Given the description of an element on the screen output the (x, y) to click on. 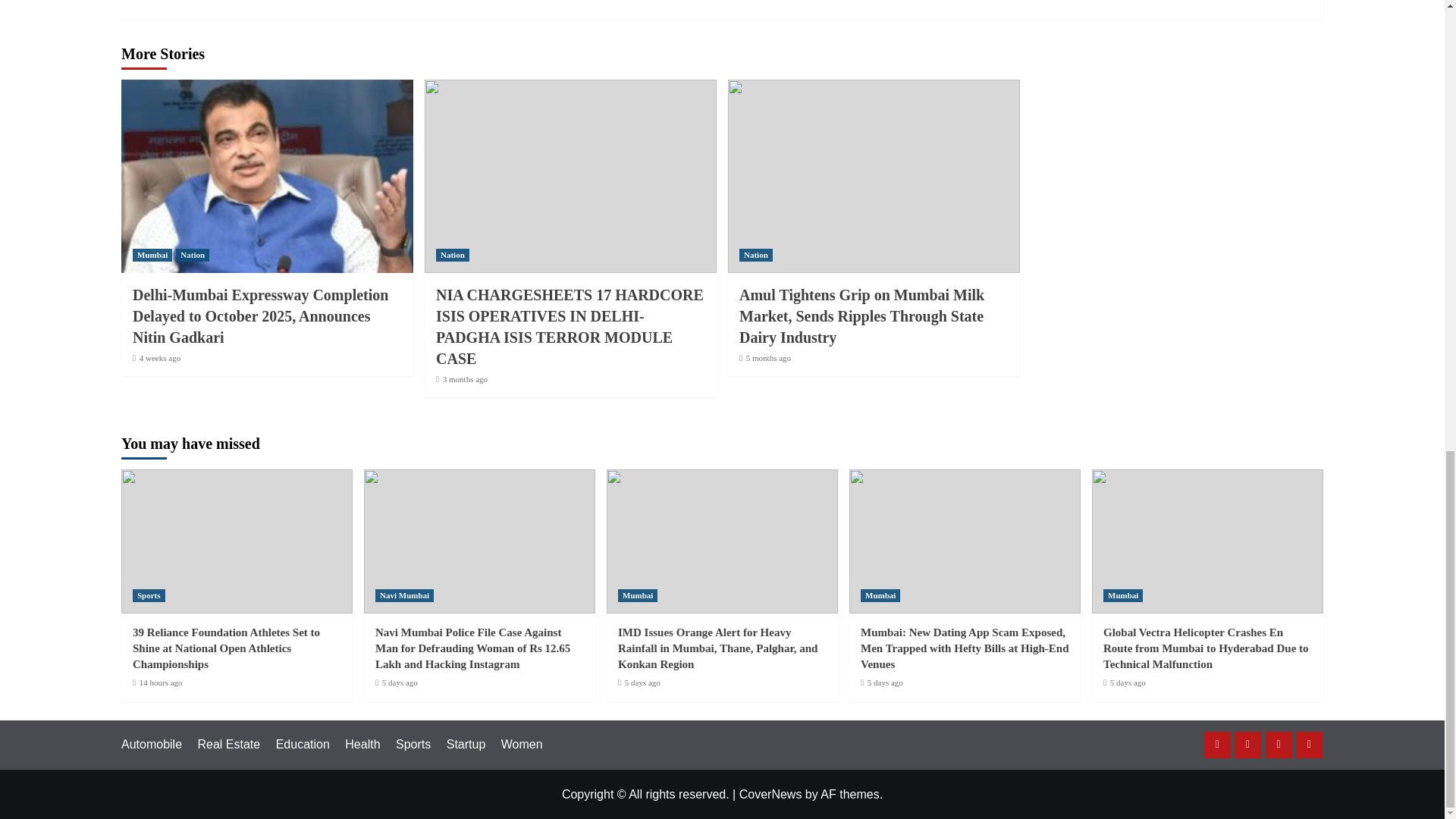
Nation (192, 254)
Mumbai (151, 254)
